Given the description of an element on the screen output the (x, y) to click on. 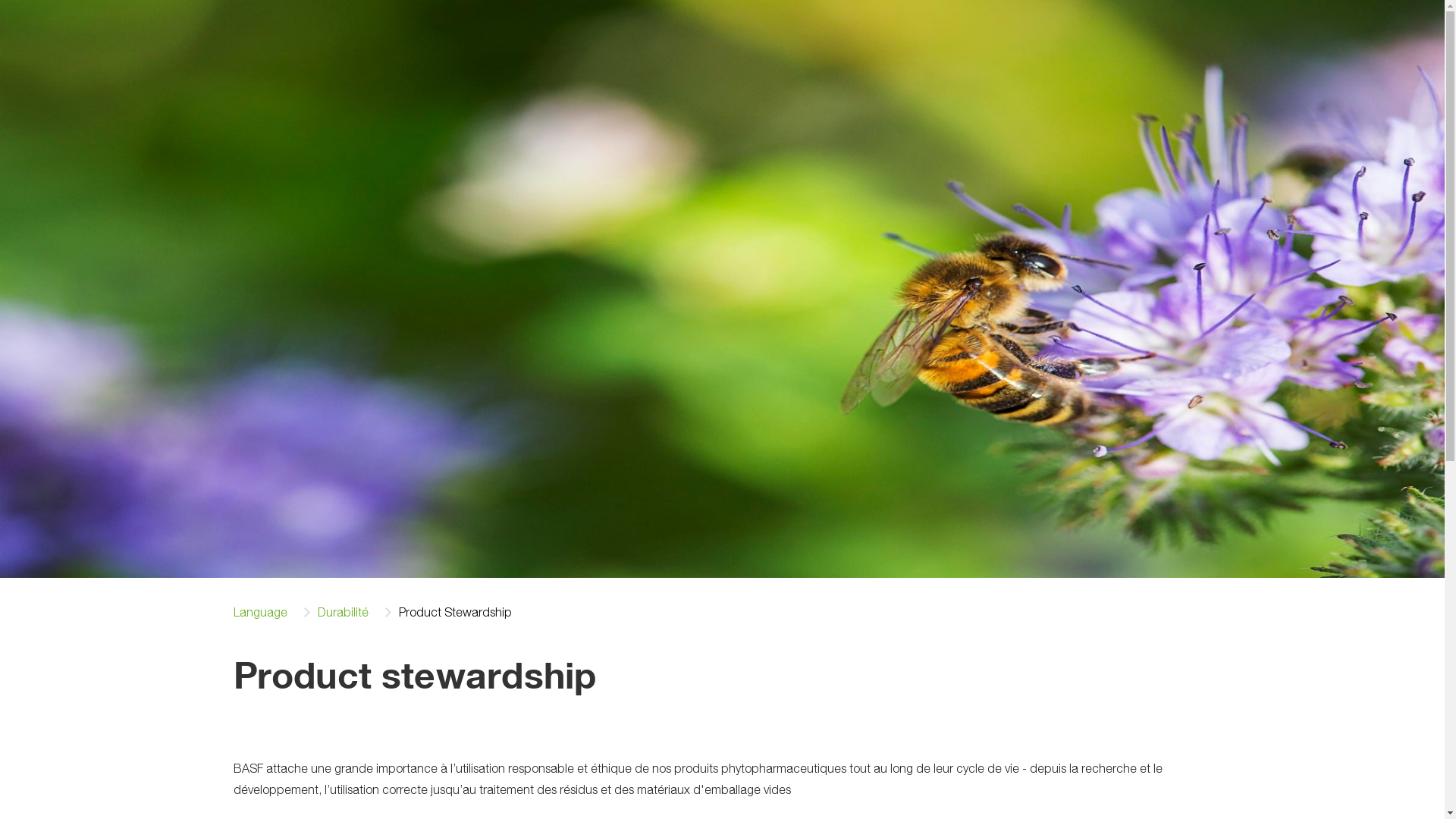
Language Element type: text (260, 612)
